Given the description of an element on the screen output the (x, y) to click on. 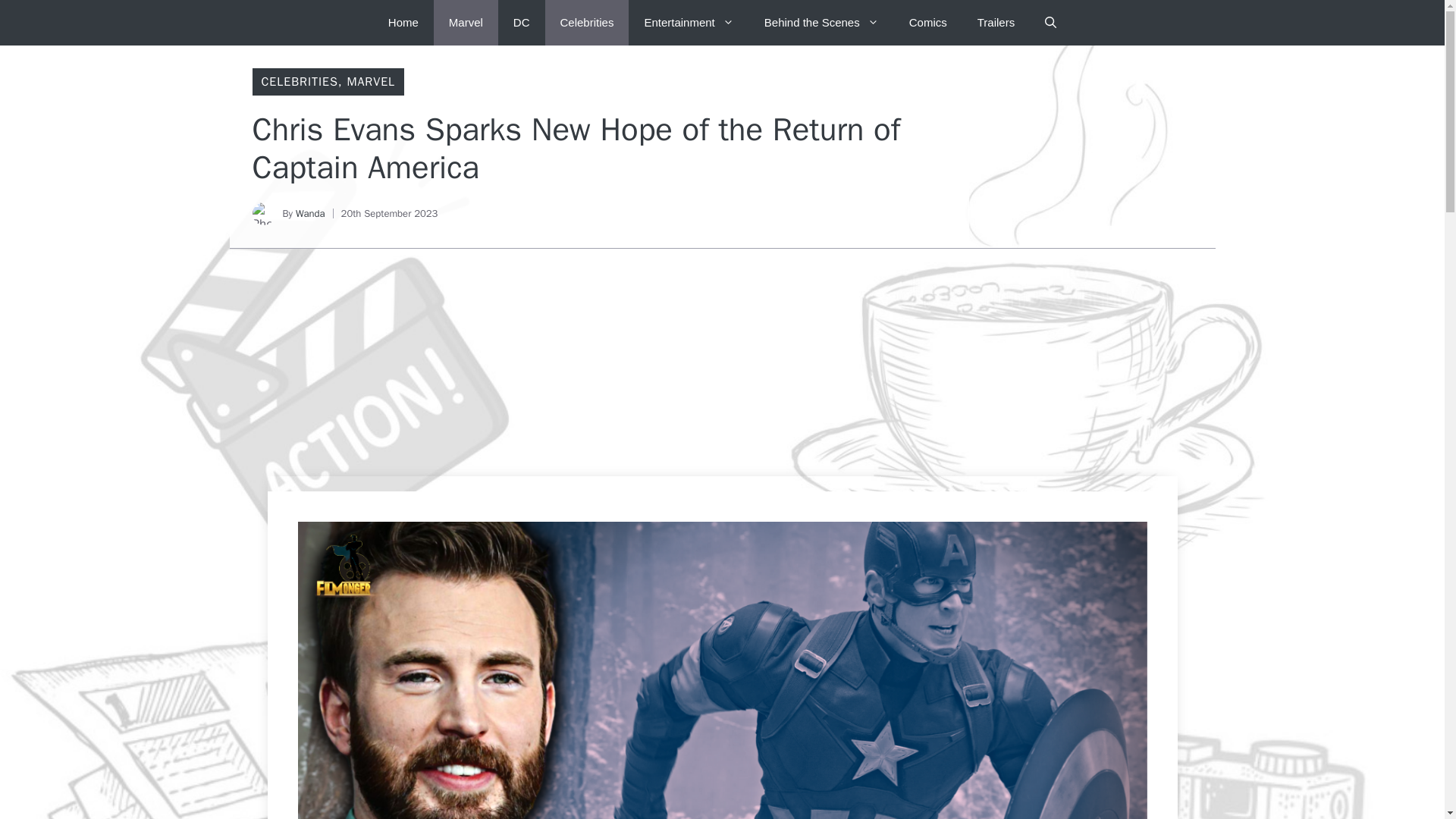
Home (402, 22)
Behind the Scenes (821, 22)
Trailers (995, 22)
Comics (927, 22)
Celebrities (586, 22)
DC (520, 22)
MARVEL (370, 81)
CELEBRITIES (298, 81)
Wanda (309, 213)
Marvel (465, 22)
Entertainment (688, 22)
